Given the description of an element on the screen output the (x, y) to click on. 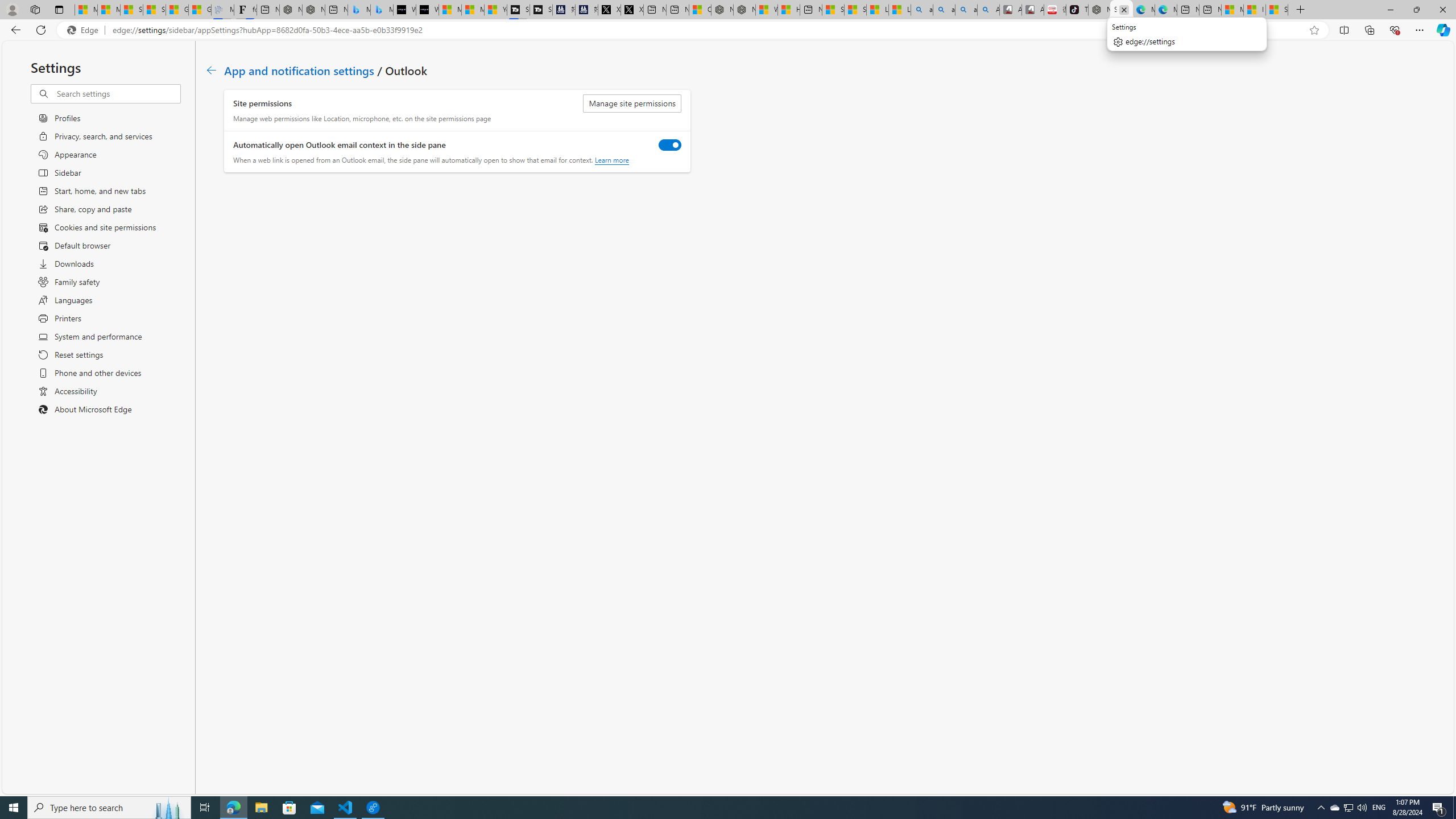
I Gained 20 Pounds of Muscle in 30 Days! | Watch (1255, 9)
Go back to App and notification settings page. (210, 70)
Edge (84, 29)
App and notification settings (299, 69)
